Given the description of an element on the screen output the (x, y) to click on. 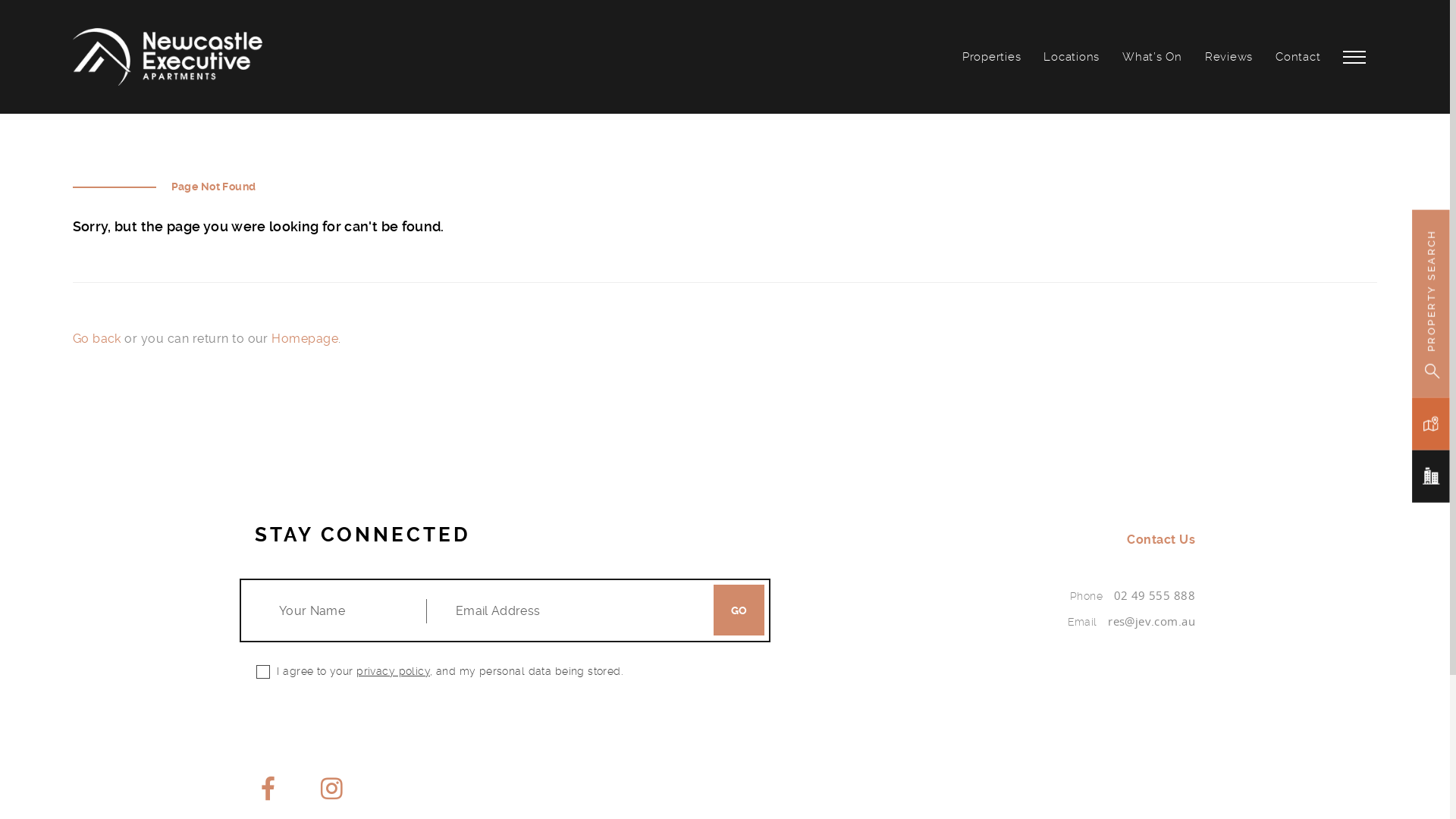
02 49 555 888 Element type: text (1154, 596)
Homepage Element type: text (304, 338)
Newcastle Executive Apartments Element type: hover (167, 57)
Reviews Element type: text (1228, 56)
GO Element type: text (738, 609)
Locations Element type: text (1071, 56)
privacy policy Element type: text (392, 671)
res@jev.com.au Element type: text (1151, 621)
Go back Element type: text (96, 338)
Contact Us Element type: text (1160, 539)
Properties Element type: text (991, 56)
Contact Element type: text (1297, 56)
